Given the description of an element on the screen output the (x, y) to click on. 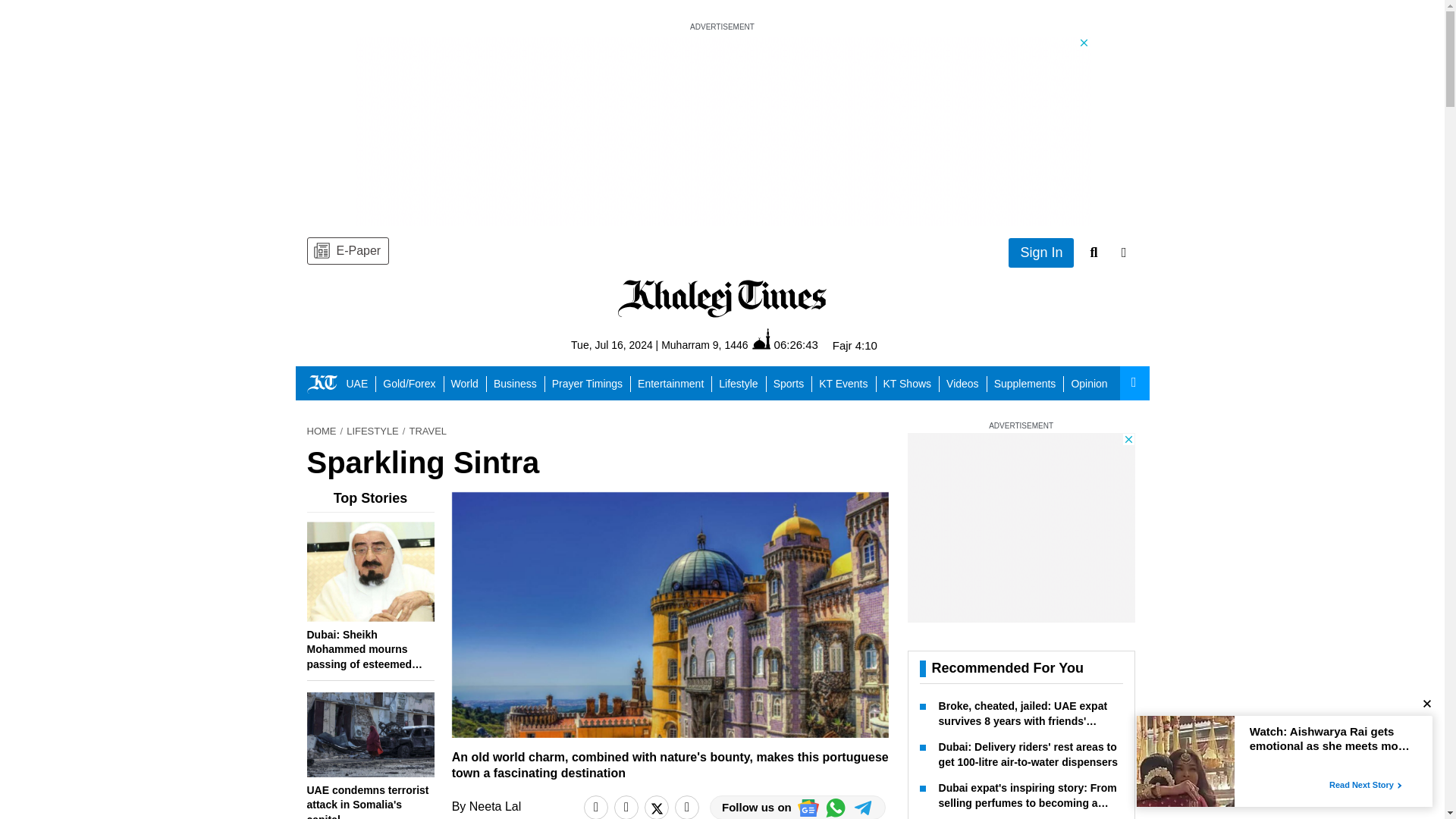
E-Paper (346, 250)
06:26:43 (785, 344)
Fajr 4:10 (854, 345)
Sign In (1041, 252)
